Given the description of an element on the screen output the (x, y) to click on. 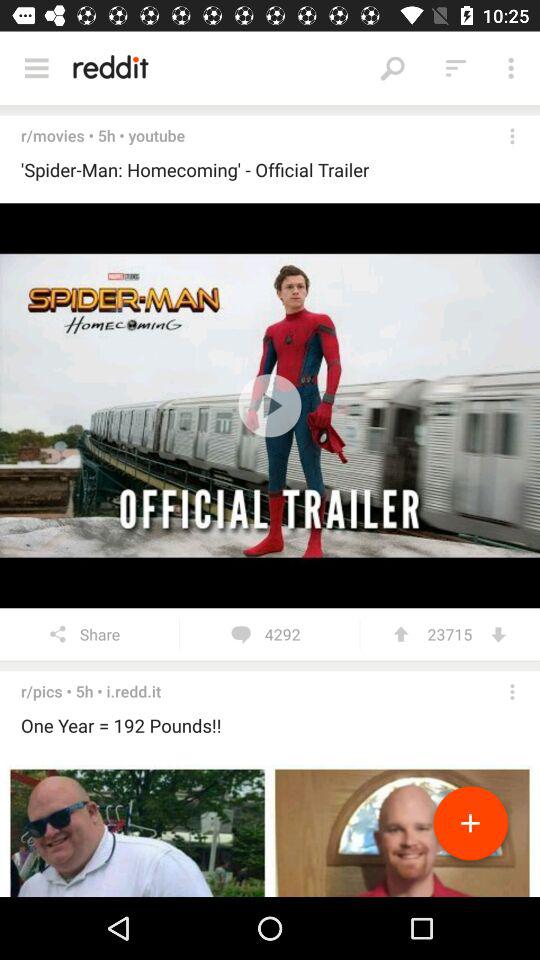
click for settings (512, 136)
